Given the description of an element on the screen output the (x, y) to click on. 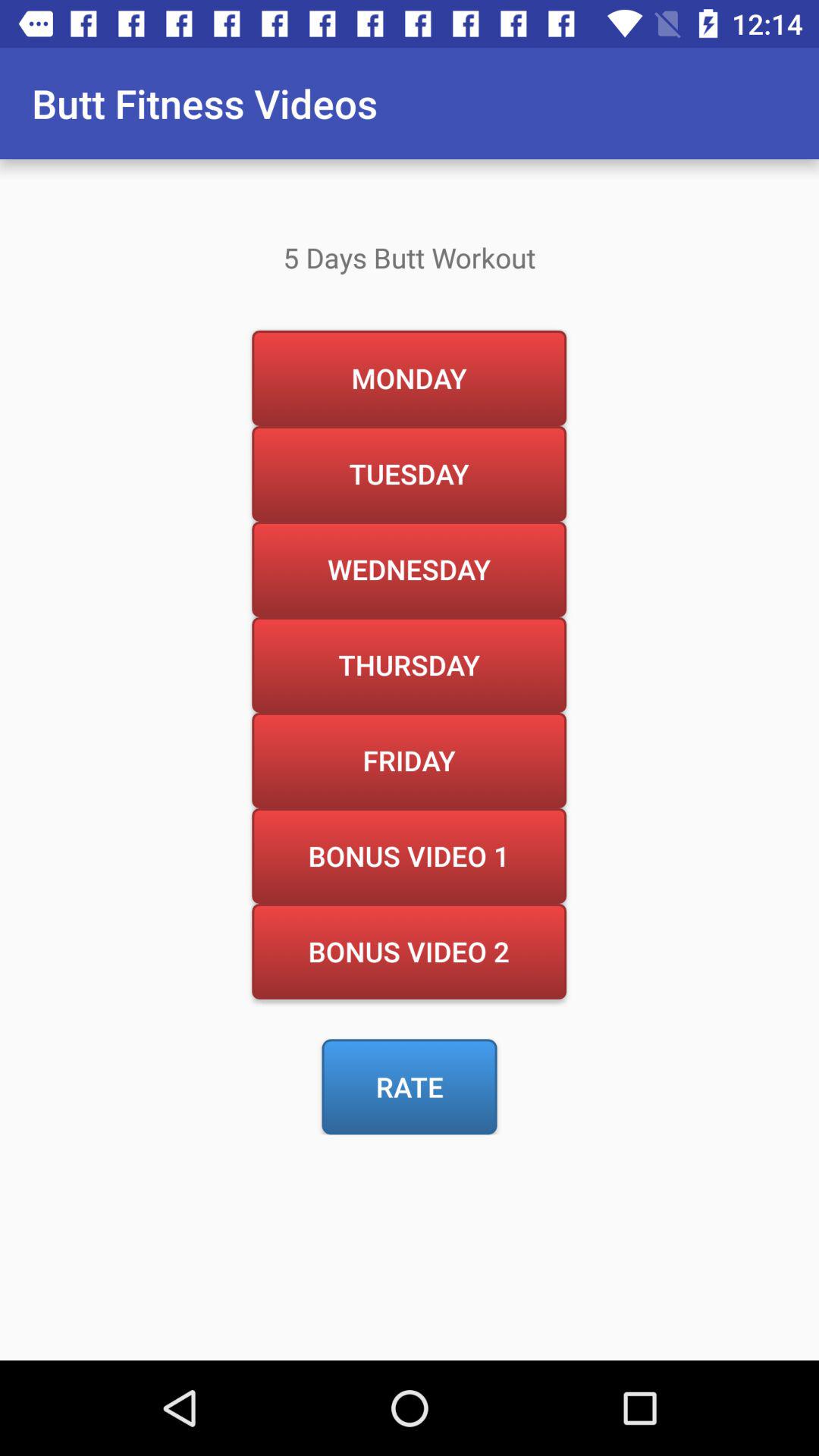
flip until monday item (408, 377)
